Given the description of an element on the screen output the (x, y) to click on. 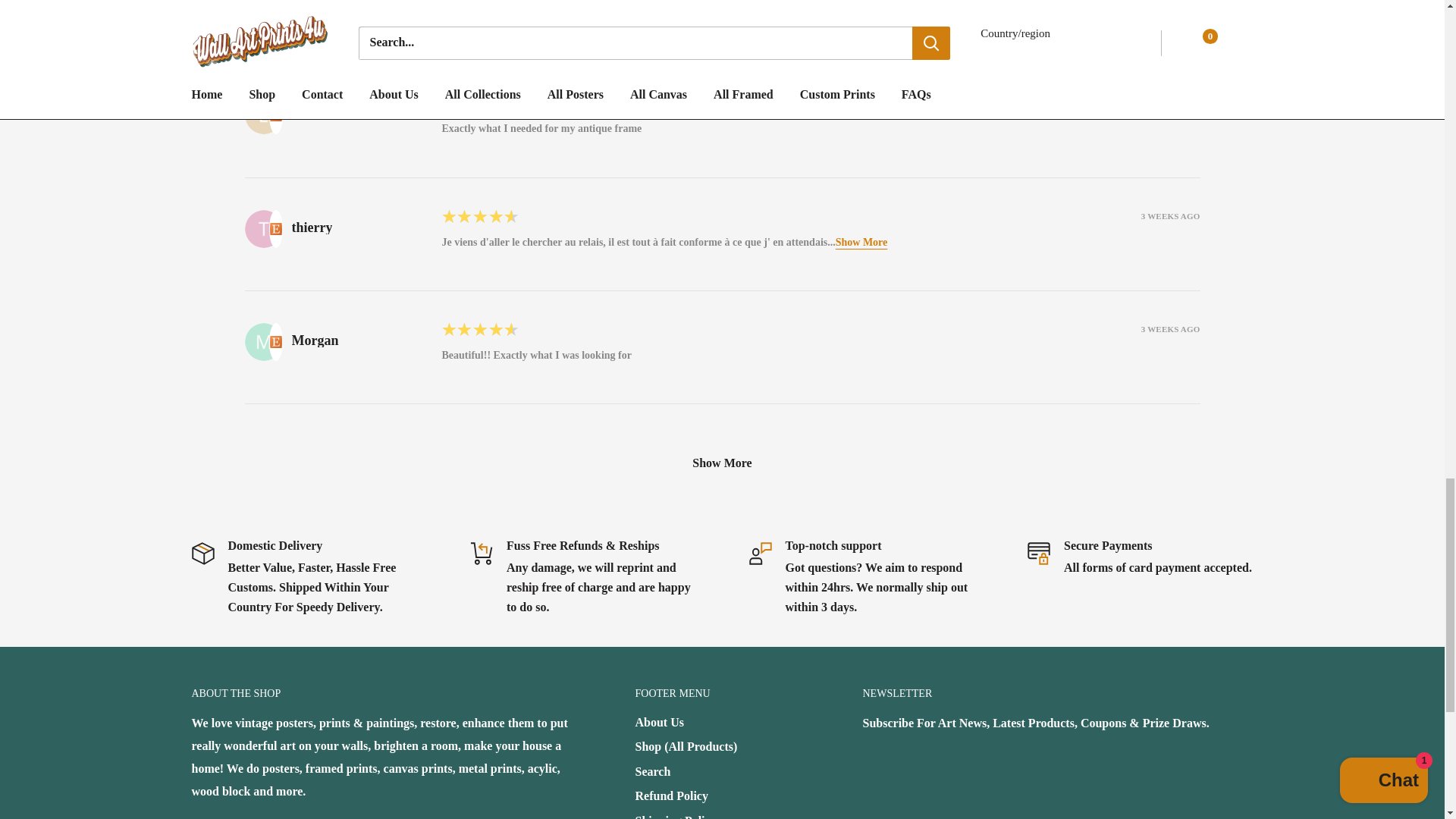
This review was originally posted on Etsy. (274, 10)
This review was originally posted on Etsy. (274, 115)
This review was originally posted on Etsy. (274, 341)
This review was originally posted on Etsy. (274, 228)
